Given the description of an element on the screen output the (x, y) to click on. 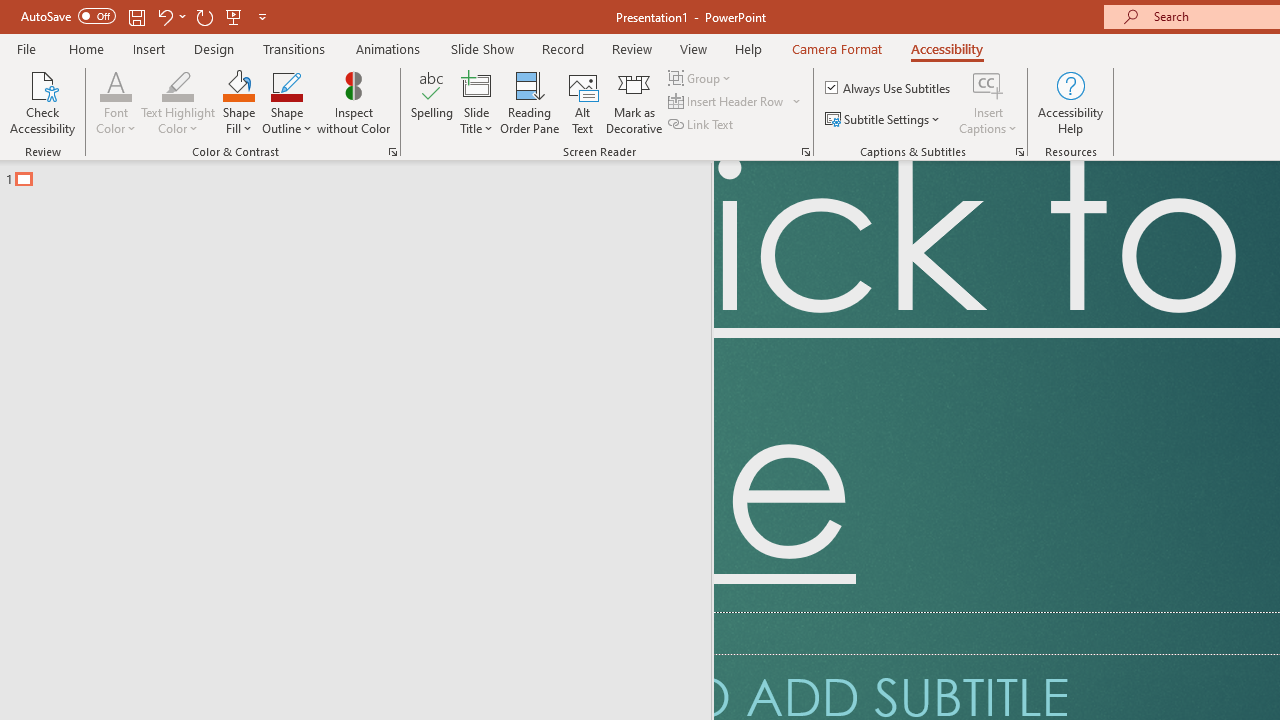
Always Use Subtitles (889, 87)
Accessibility Help (1070, 102)
Inspect without Color (353, 102)
Reading Order Pane (529, 102)
Mark as Decorative (634, 102)
